Given the description of an element on the screen output the (x, y) to click on. 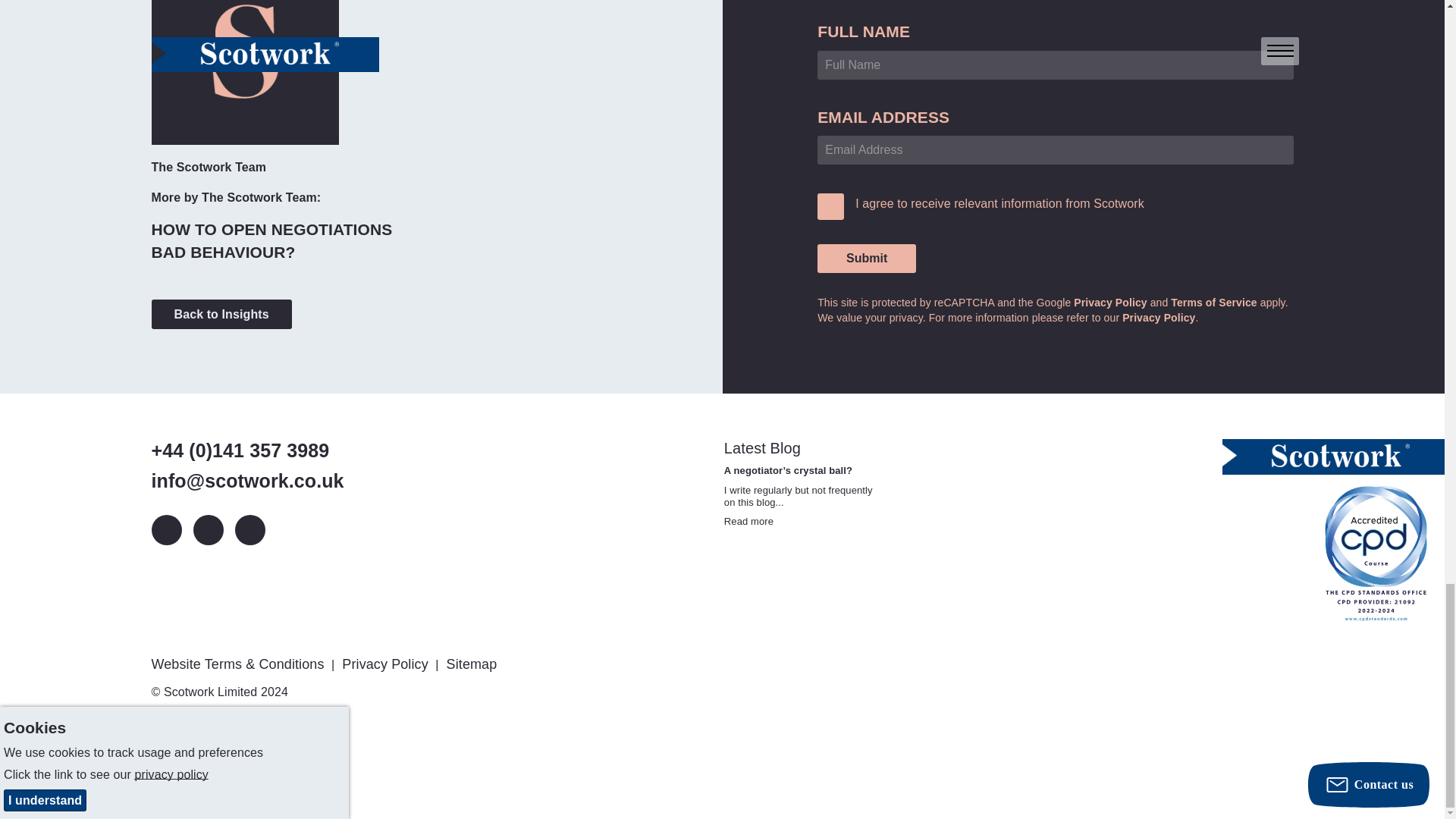
HOW TO OPEN NEGOTIATIONS (272, 229)
Sitemap (473, 663)
Google Privacy Policy (1110, 302)
facebook (249, 530)
How to Open Negotiations (272, 229)
Terms of Service (1213, 302)
BAD BEHAVIOUR? (223, 251)
Privacy Policy (386, 663)
Scotwork privacy policy (1158, 317)
Privacy Policy (1158, 317)
Privacy Policy (1110, 302)
Read more (748, 521)
Bad Behaviour? (223, 251)
Privacy Policy (386, 663)
Google Terms (1213, 302)
